Given the description of an element on the screen output the (x, y) to click on. 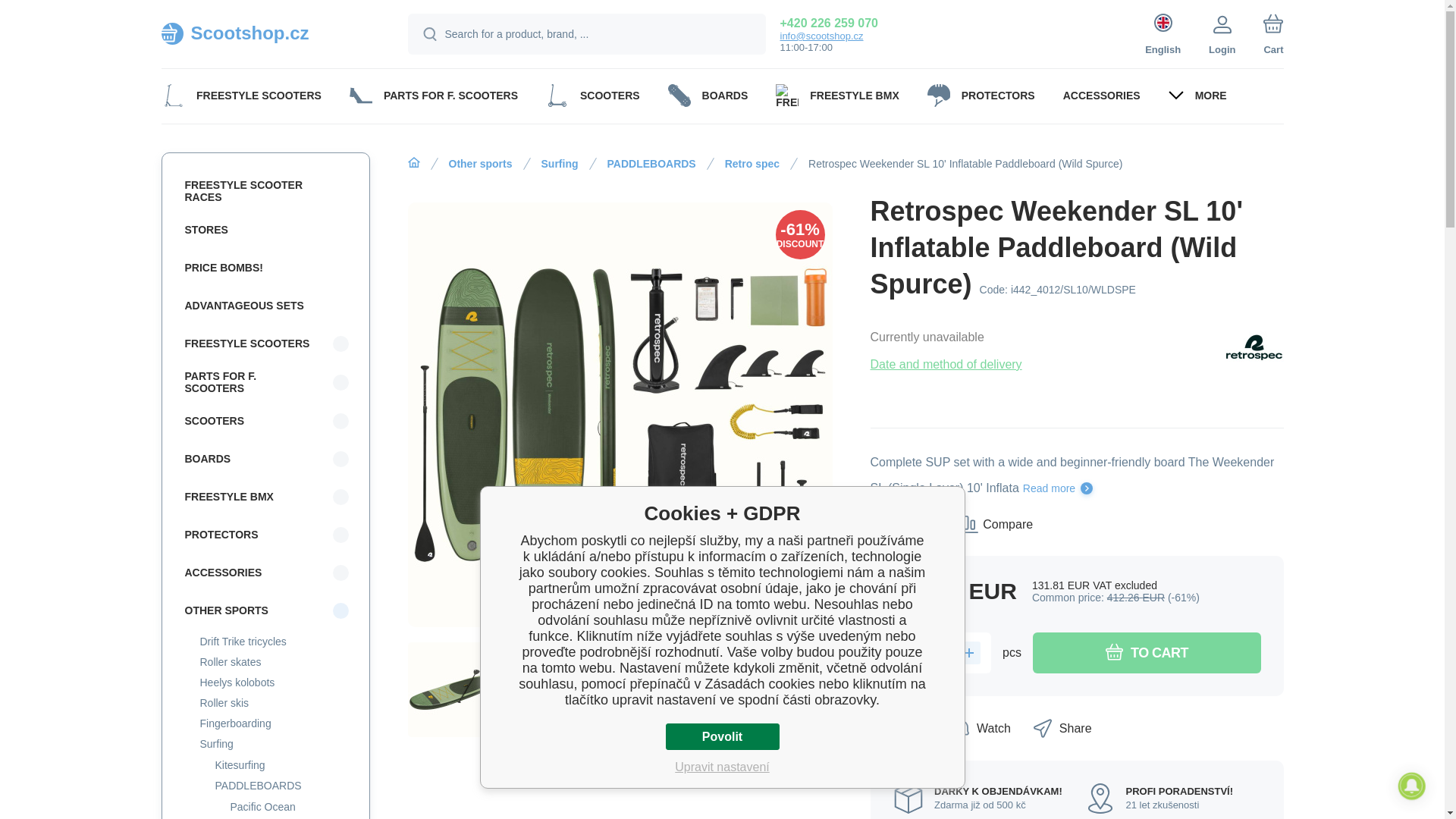
Scootshop.cz (264, 33)
BOARDS (707, 95)
1 (941, 652)
MORE (1196, 95)
PROTECTORS (980, 95)
Scootshop.cz (264, 33)
SCOOTERS (592, 95)
PARTS FOR F. SCOOTERS (432, 95)
FREESTYLE BMX (837, 95)
FREESTYLE SCOOTERS (240, 95)
